Given the description of an element on the screen output the (x, y) to click on. 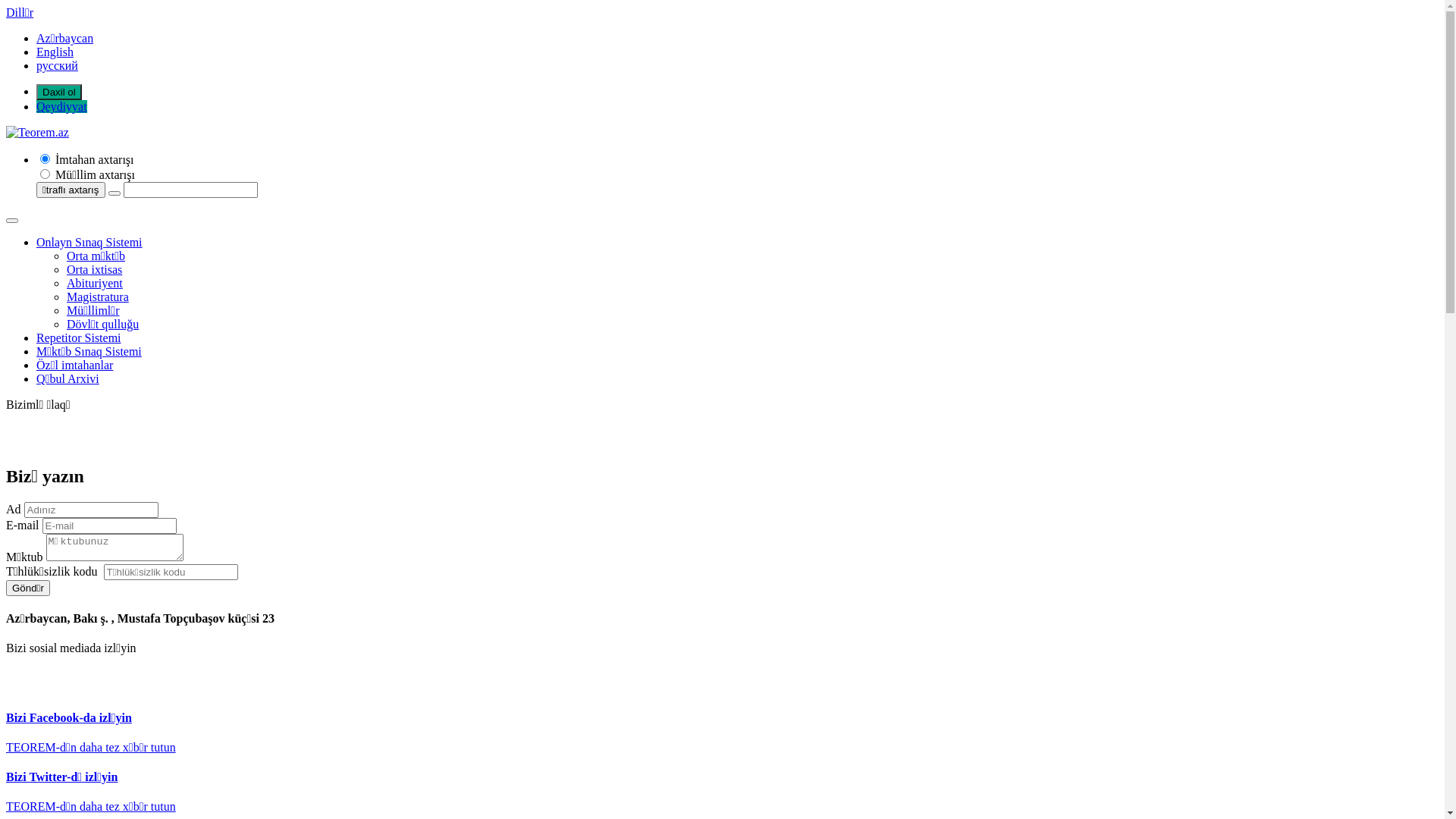
Qeydiyyat Element type: text (61, 106)
Teorem.az Element type: hover (37, 132)
Repetitor Sistemi Element type: text (78, 337)
Abituriyent Element type: text (94, 282)
English Element type: text (54, 51)
Magistratura Element type: text (97, 296)
Orta ixtisas Element type: text (94, 269)
Daxil ol Element type: text (58, 92)
